Given the description of an element on the screen output the (x, y) to click on. 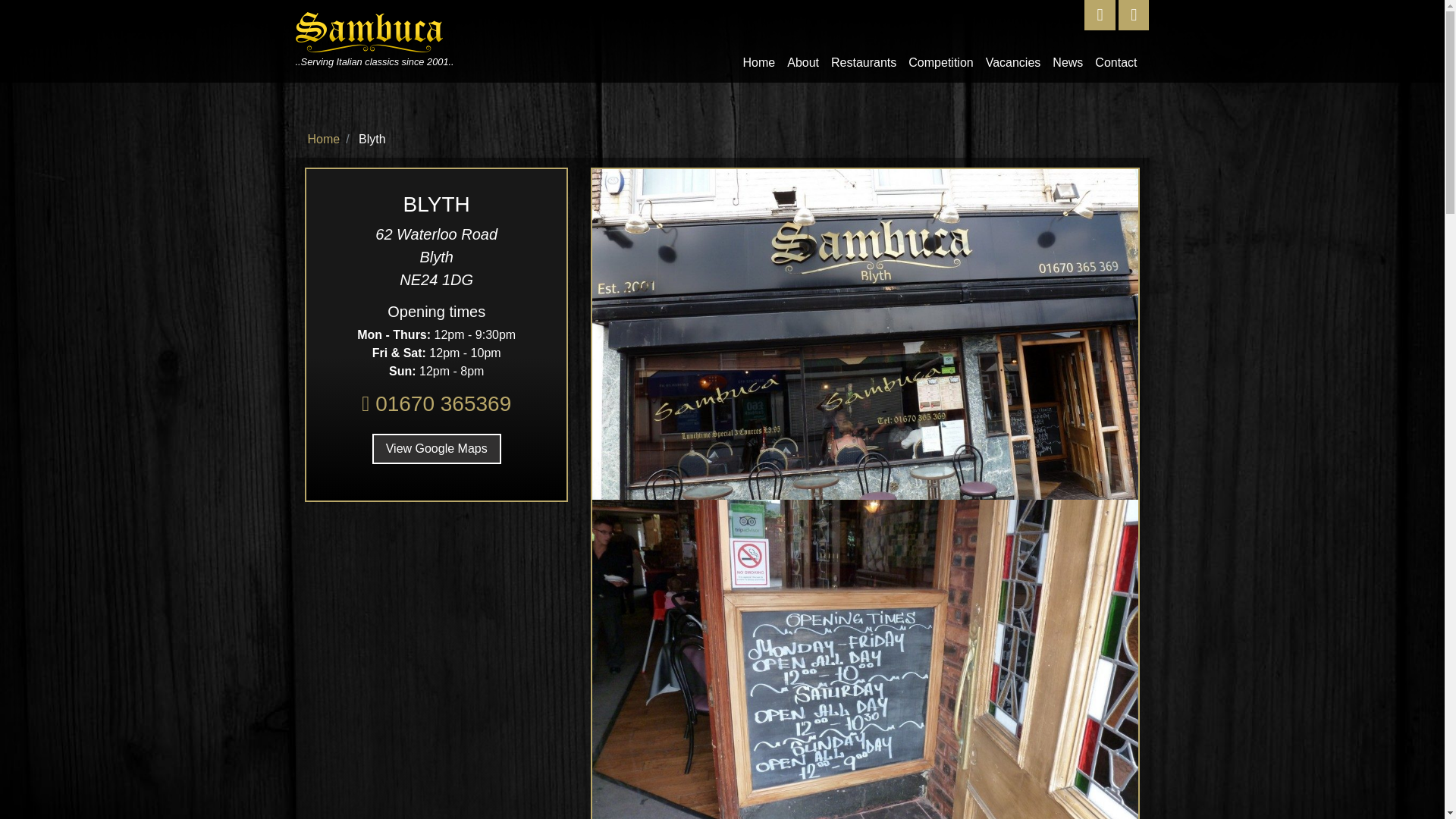
View Google Maps (436, 449)
Restaurants (863, 62)
News (1067, 62)
About (802, 62)
Home (759, 62)
01670 365369 (436, 403)
Contact (1115, 62)
Home (323, 138)
Vacancies (1013, 62)
Competition (940, 62)
